Given the description of an element on the screen output the (x, y) to click on. 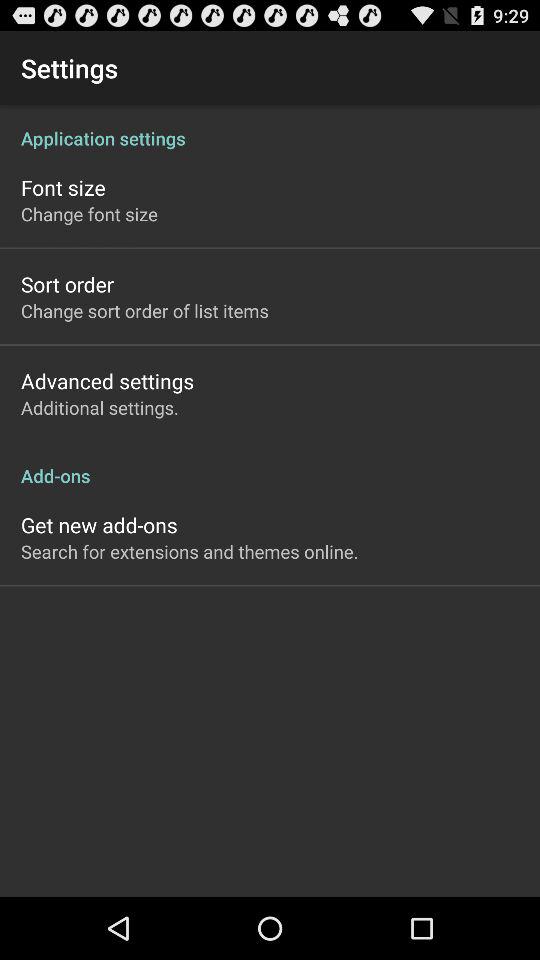
turn on the item below add-ons (99, 524)
